Given the description of an element on the screen output the (x, y) to click on. 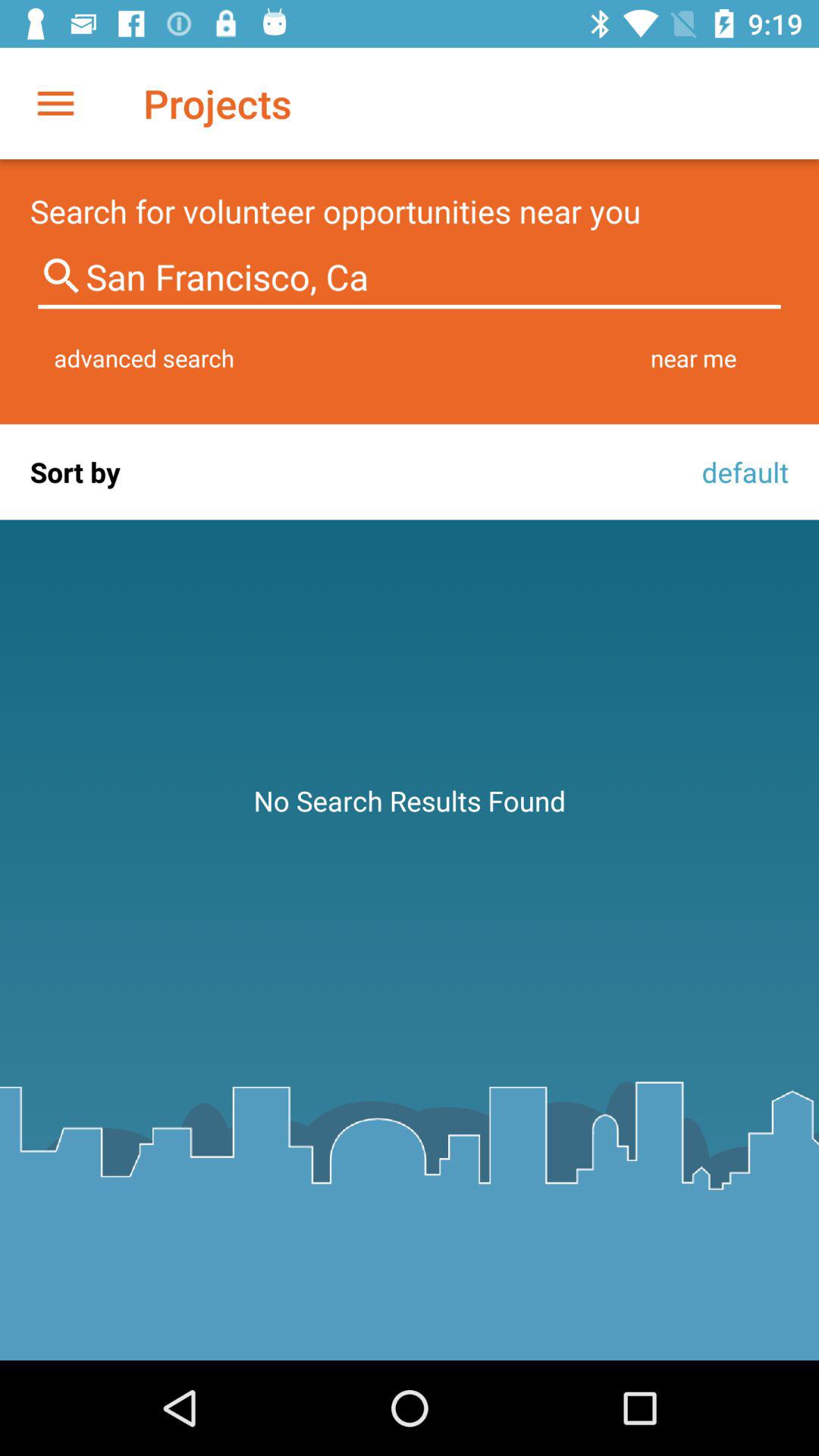
turn off the item next to the near me item (144, 358)
